Given the description of an element on the screen output the (x, y) to click on. 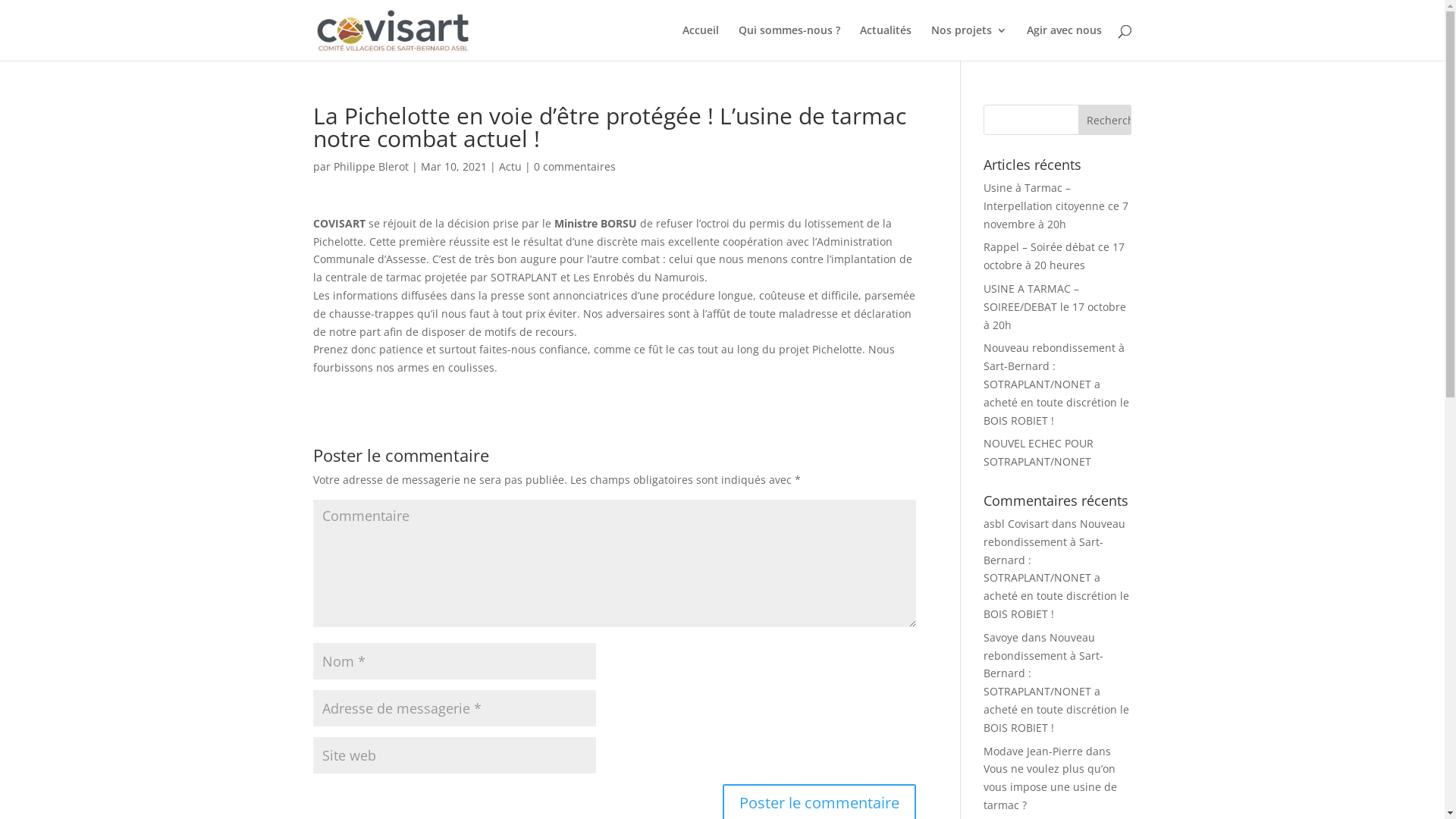
Philippe Blerot Element type: text (370, 166)
Rechercher Element type: text (1104, 119)
Nos projets Element type: text (969, 42)
Qui sommes-nous ? Element type: text (789, 42)
Agir avec nous Element type: text (1063, 42)
NOUVEL ECHEC POUR SOTRAPLANT/NONET Element type: text (1038, 452)
Actu Element type: text (509, 166)
0 commentaires Element type: text (574, 166)
Accueil Element type: text (700, 42)
